Given the description of an element on the screen output the (x, y) to click on. 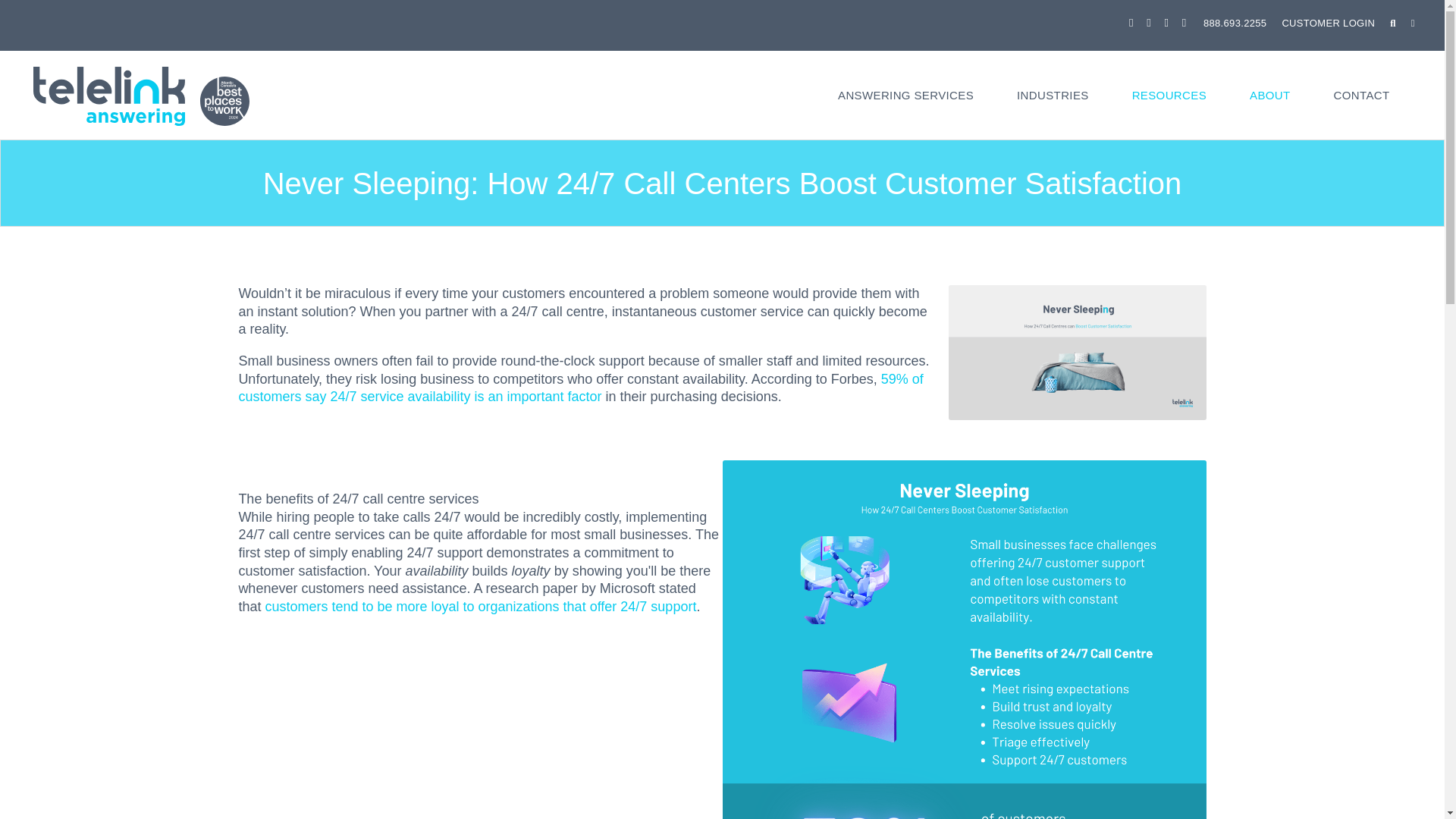
customer support decisions (580, 387)
CUSTOMER LOGIN (1328, 22)
Contact Us (1360, 107)
888.693.2255 (1227, 22)
loyalty driven by customer support (479, 606)
